Given the description of an element on the screen output the (x, y) to click on. 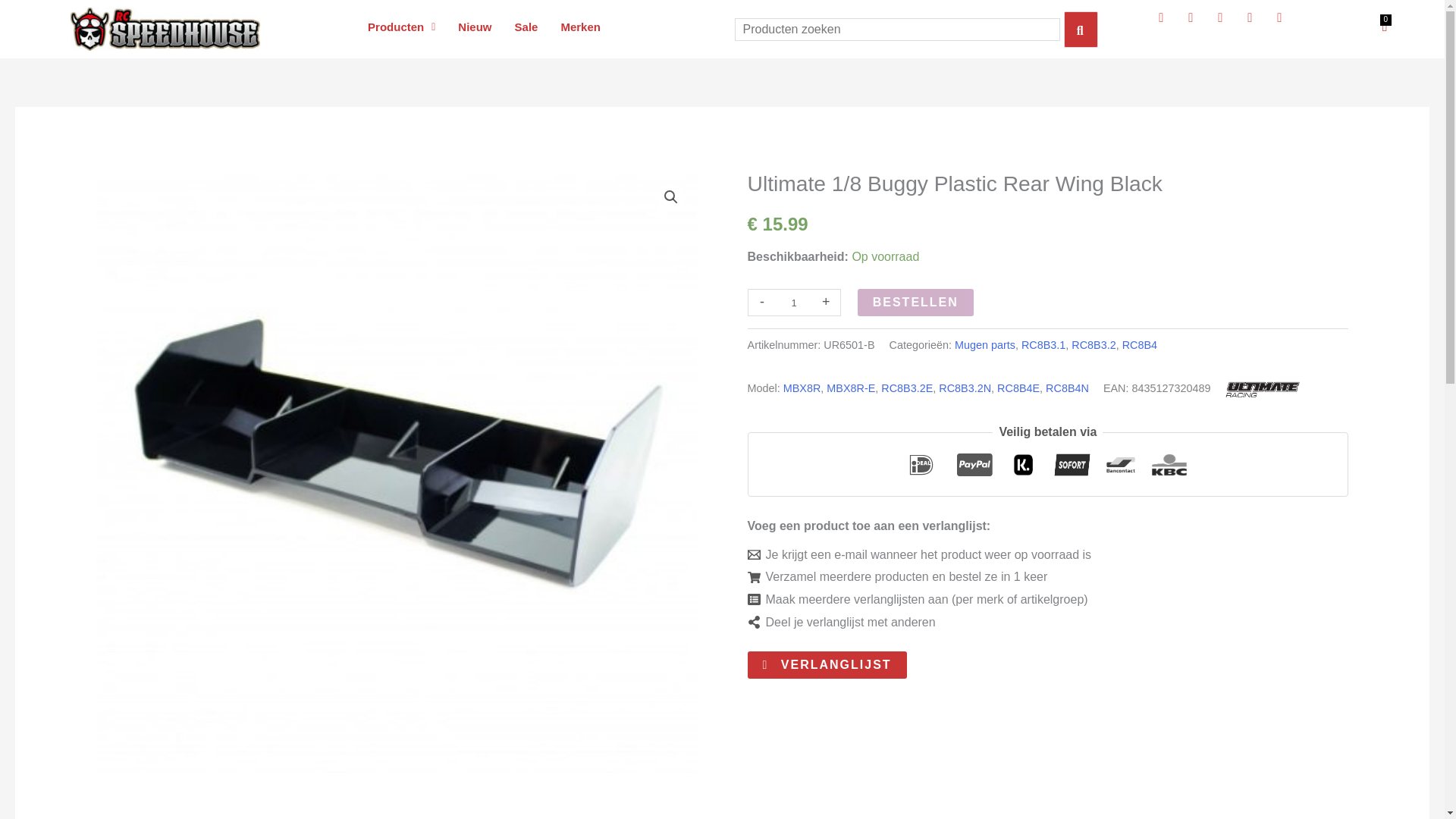
Producten (401, 26)
1 (794, 302)
